Given the description of an element on the screen output the (x, y) to click on. 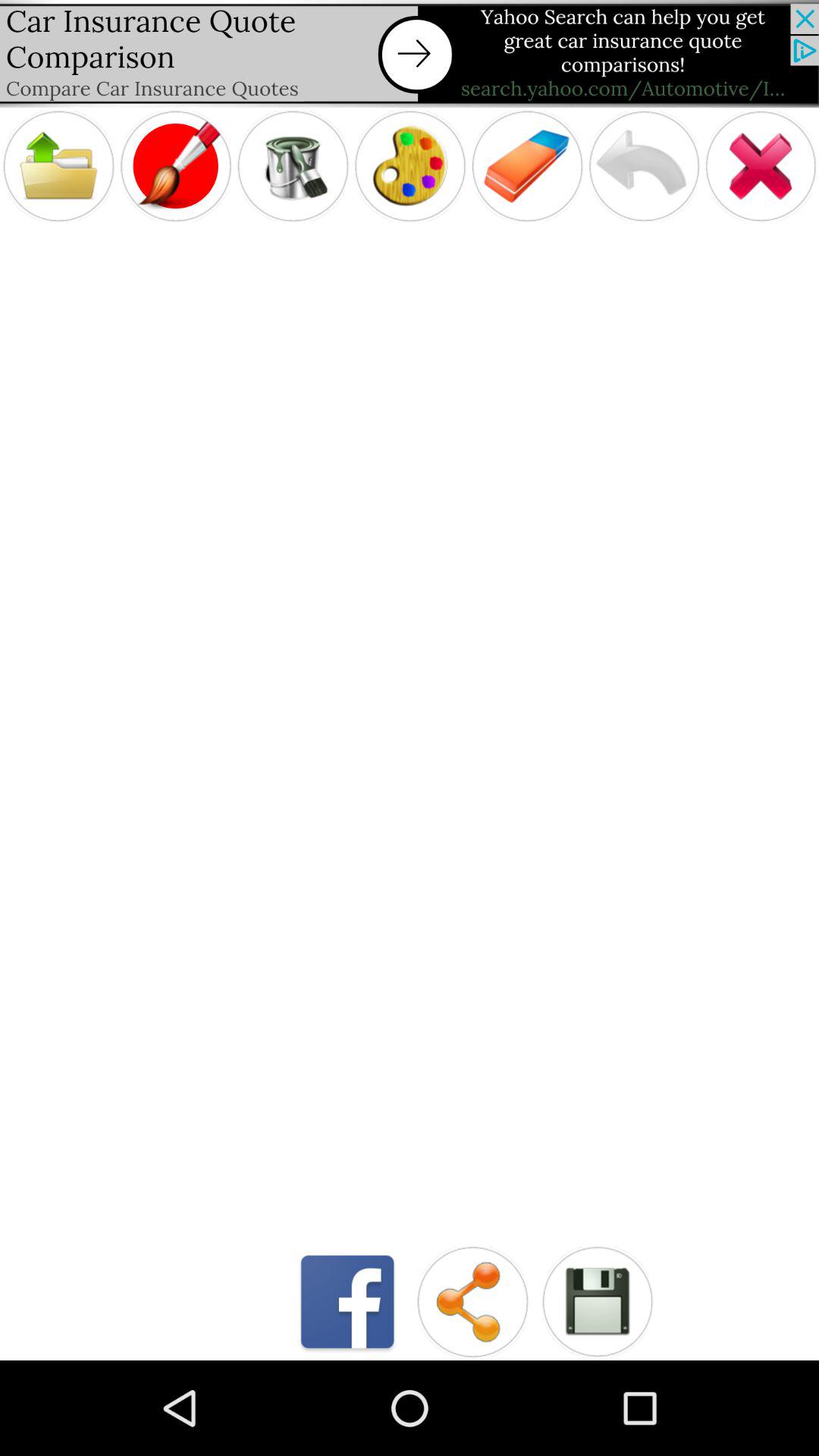
select the color bar (409, 165)
